Given the description of an element on the screen output the (x, y) to click on. 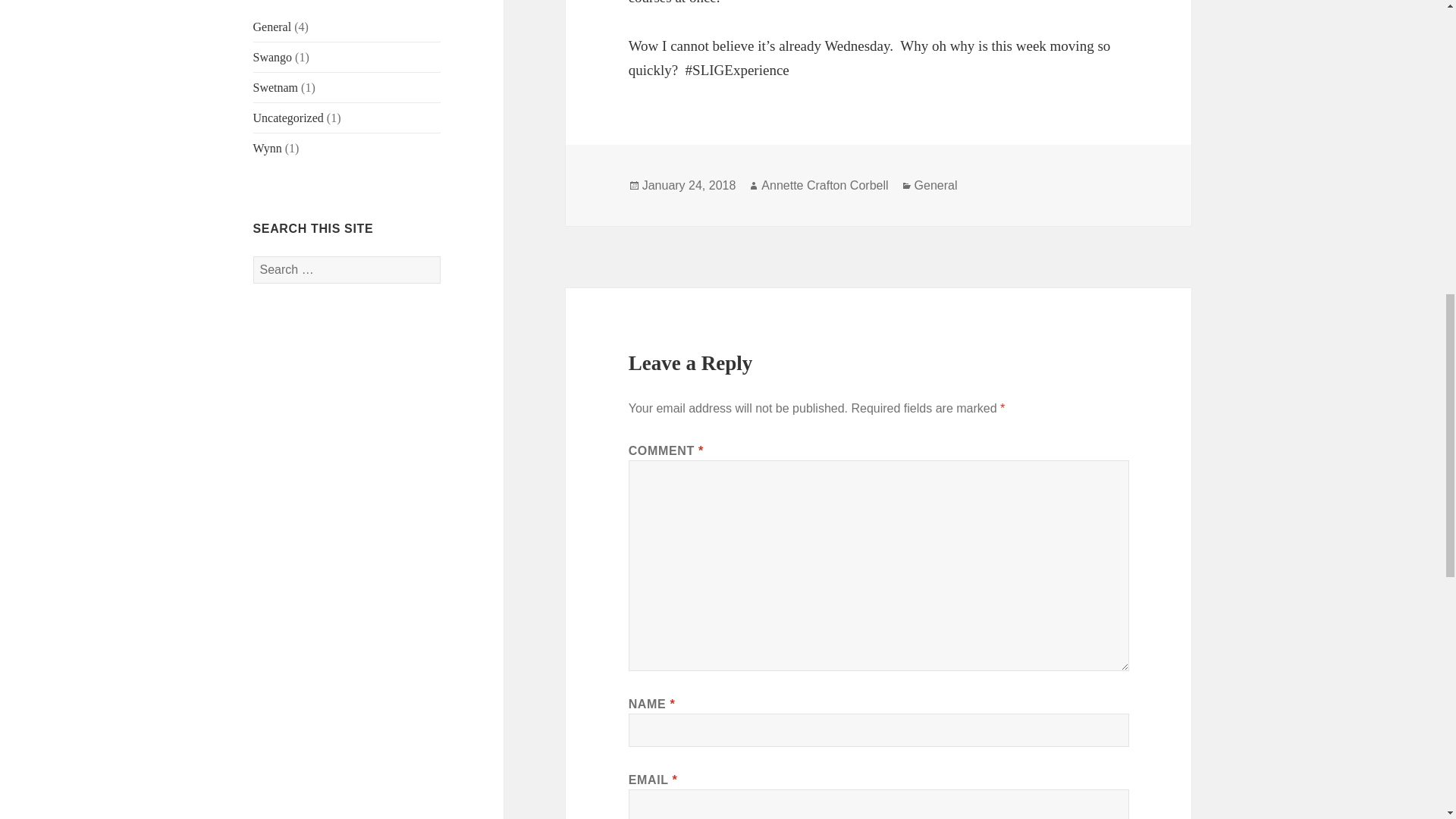
Swango (272, 56)
Wynn (267, 147)
General (936, 185)
Uncategorized (288, 117)
Annette Crafton Corbell (824, 185)
General (272, 26)
Swetnam (275, 87)
January 24, 2018 (689, 185)
